Given the description of an element on the screen output the (x, y) to click on. 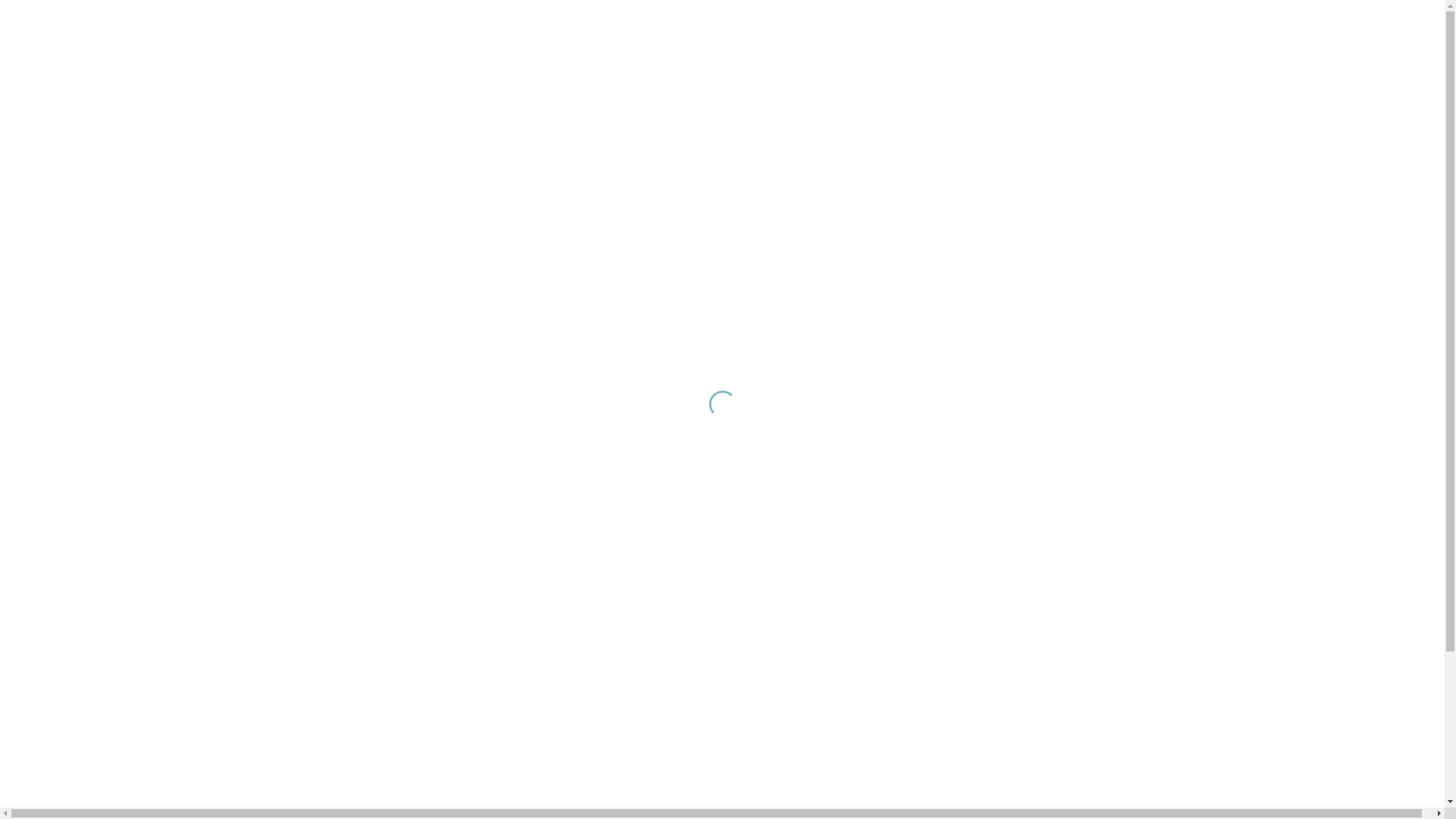
Meet Our Team Element type: text (1055, 791)
